Given the description of an element on the screen output the (x, y) to click on. 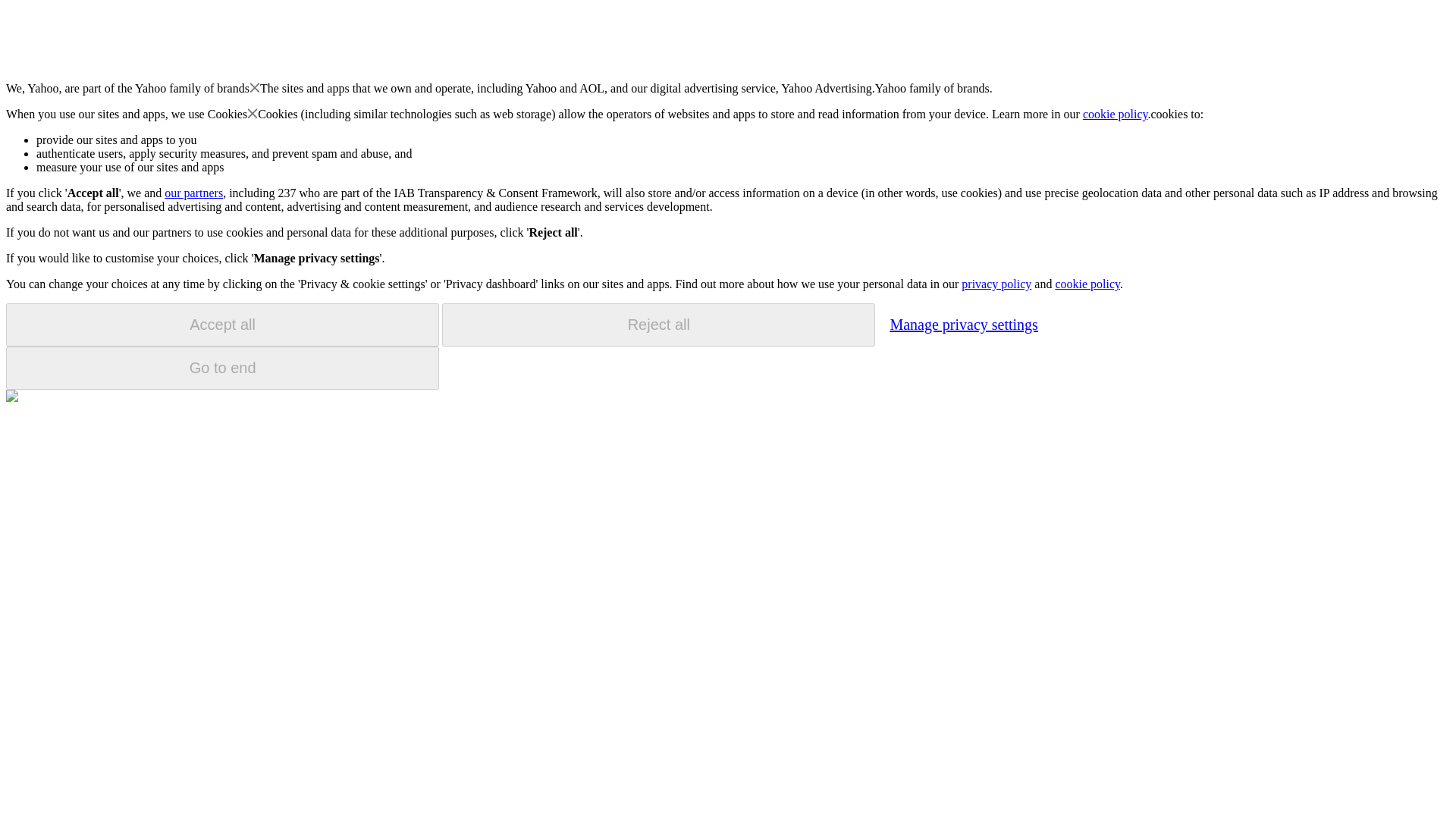
Accept all (222, 324)
Manage privacy settings (963, 323)
Reject all (658, 324)
cookie policy (1115, 113)
cookie policy (1086, 283)
privacy policy (995, 283)
our partners (193, 192)
Go to end (222, 367)
